Given the description of an element on the screen output the (x, y) to click on. 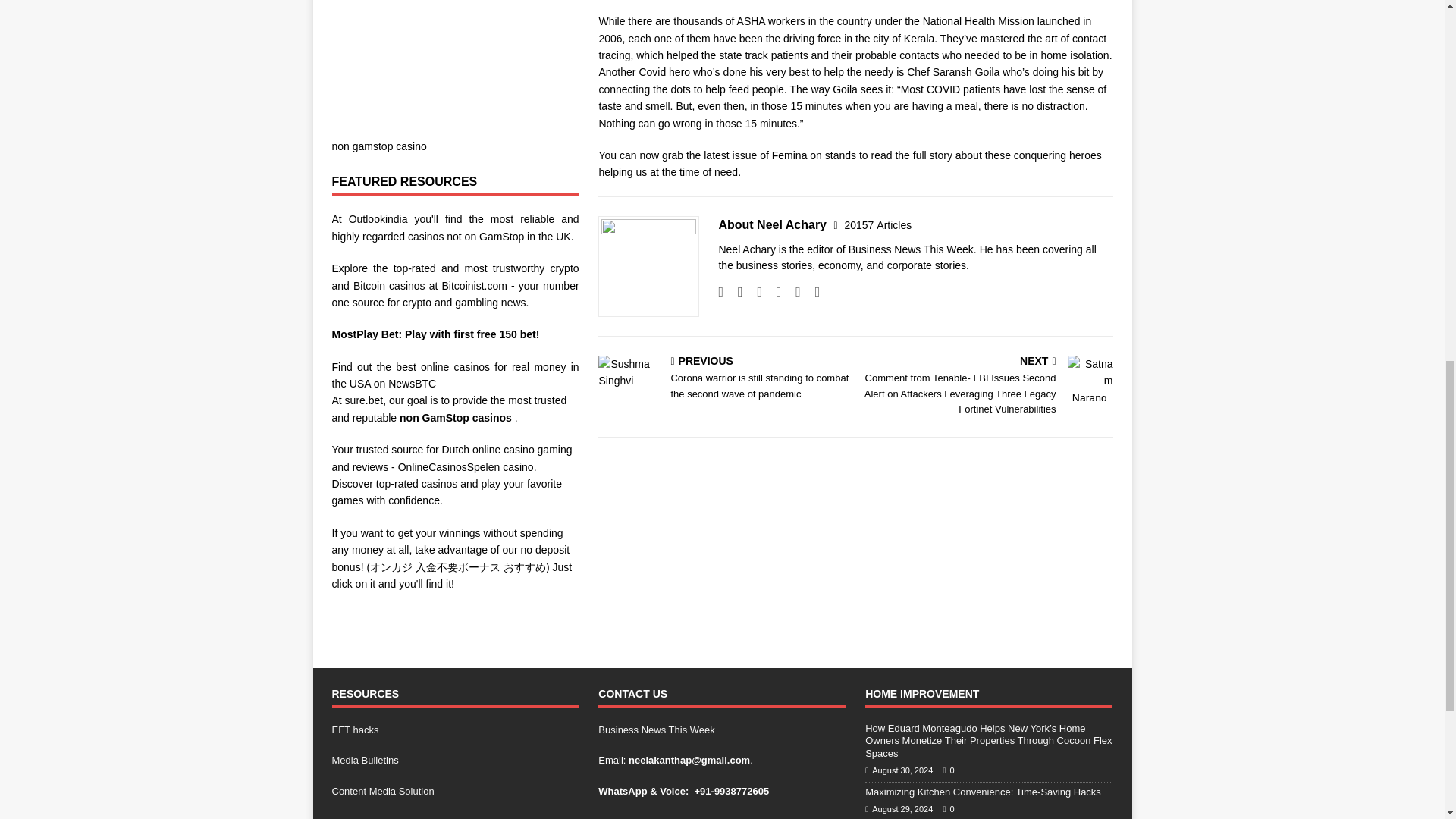
Follow Neel Achary on Twitter (773, 291)
Follow Neel Achary on Facebook (734, 291)
Follow Neel Achary on Instagram (753, 291)
More articles written by Neel Achary' (877, 224)
